Given the description of an element on the screen output the (x, y) to click on. 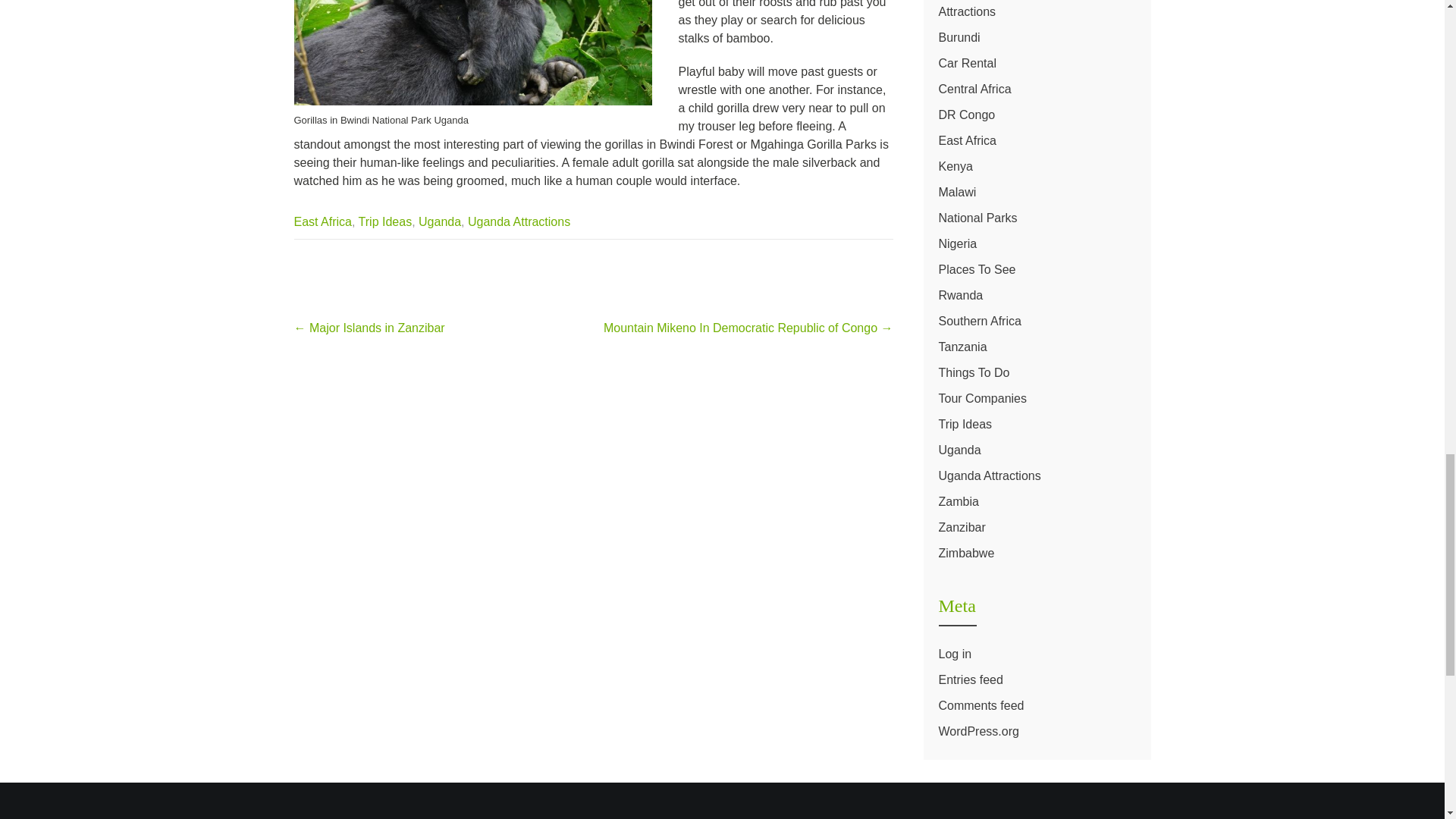
View all posts in Trip Ideas (385, 221)
View all posts in Uganda Attractions (518, 221)
View all posts in East Africa (323, 221)
View all posts in Uganda (440, 221)
